Given the description of an element on the screen output the (x, y) to click on. 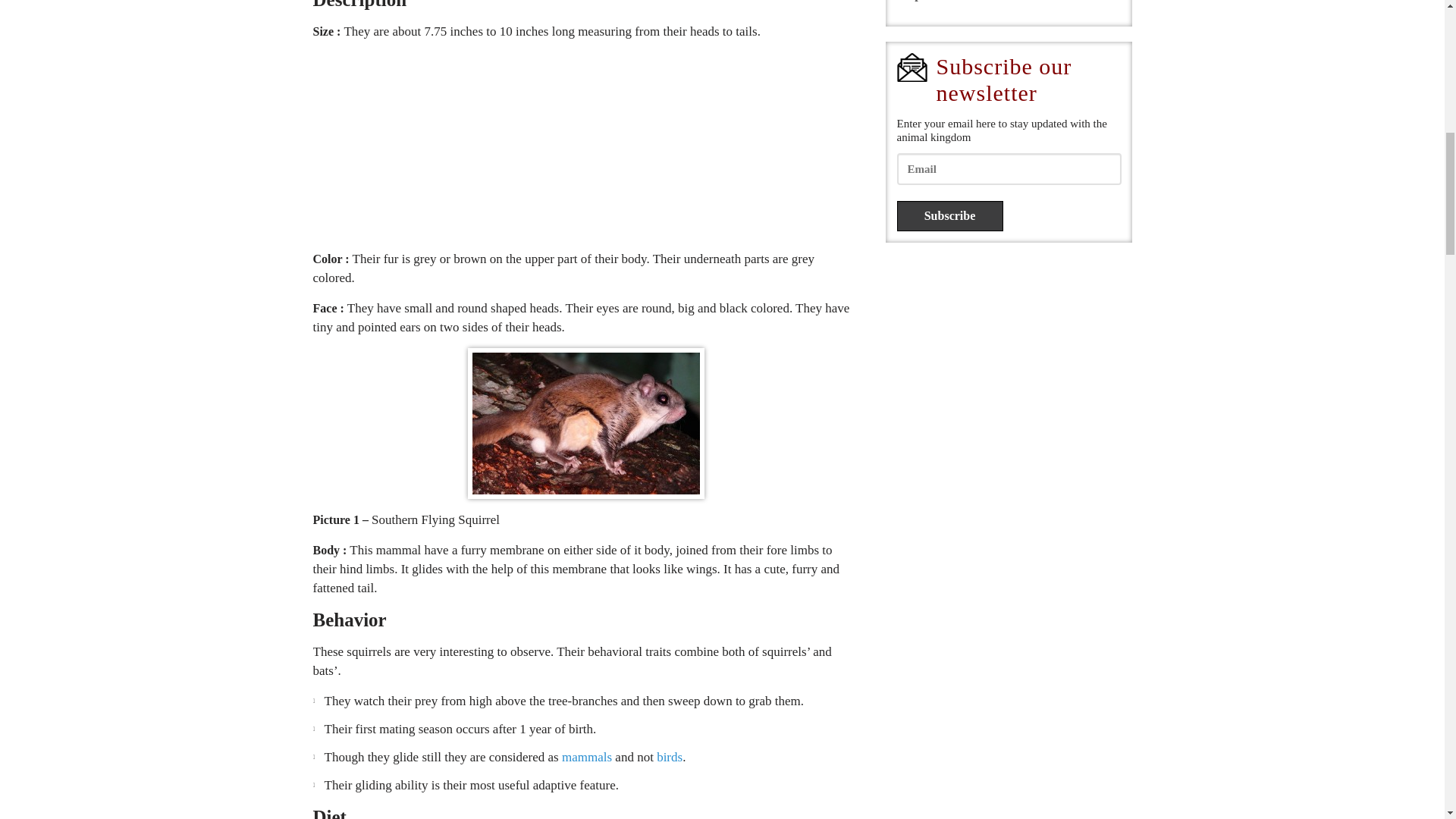
Subscribe (949, 215)
